Given the description of an element on the screen output the (x, y) to click on. 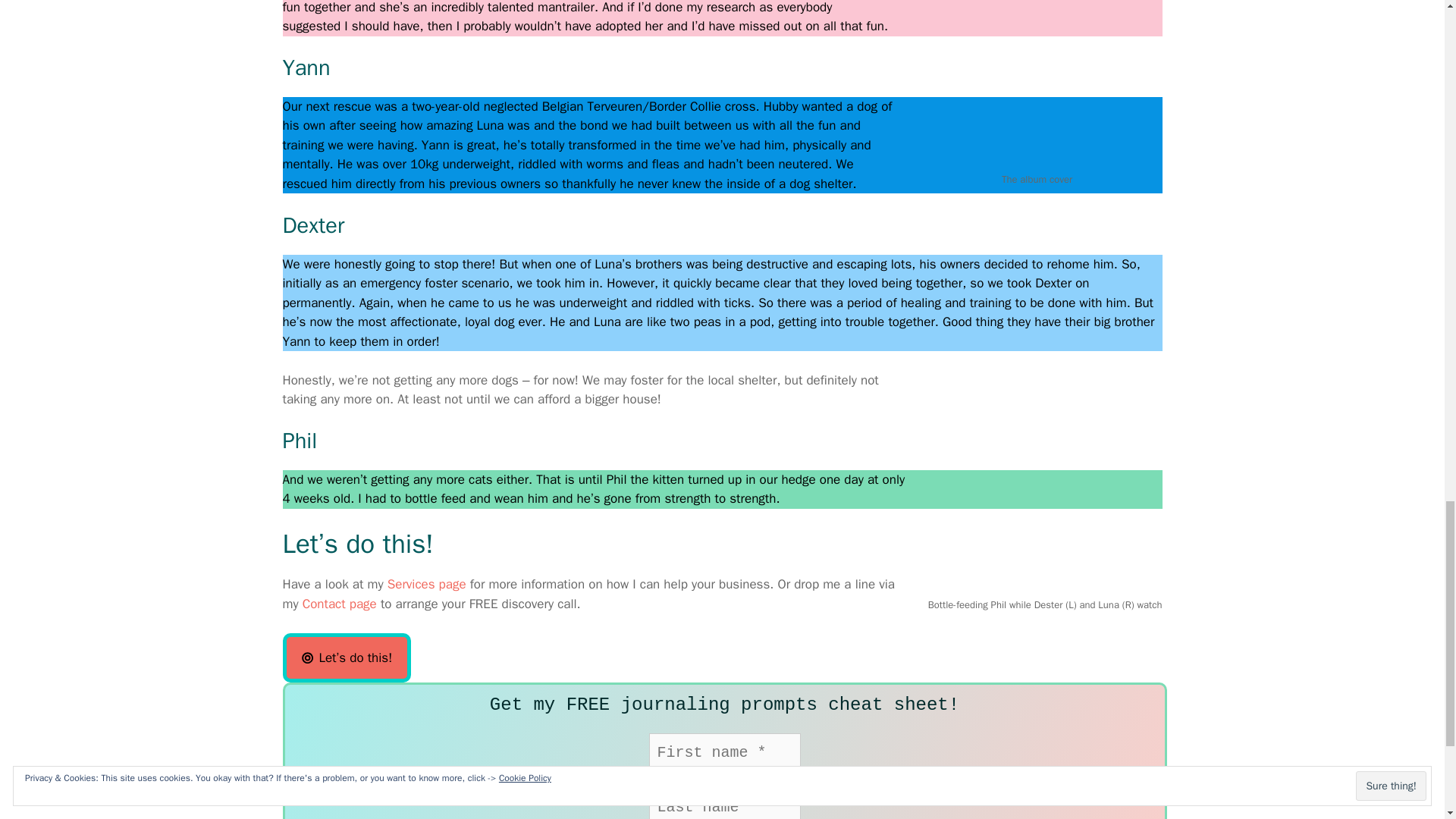
Services page (426, 584)
Contact page (339, 603)
First name (724, 753)
Last name (724, 803)
